Given the description of an element on the screen output the (x, y) to click on. 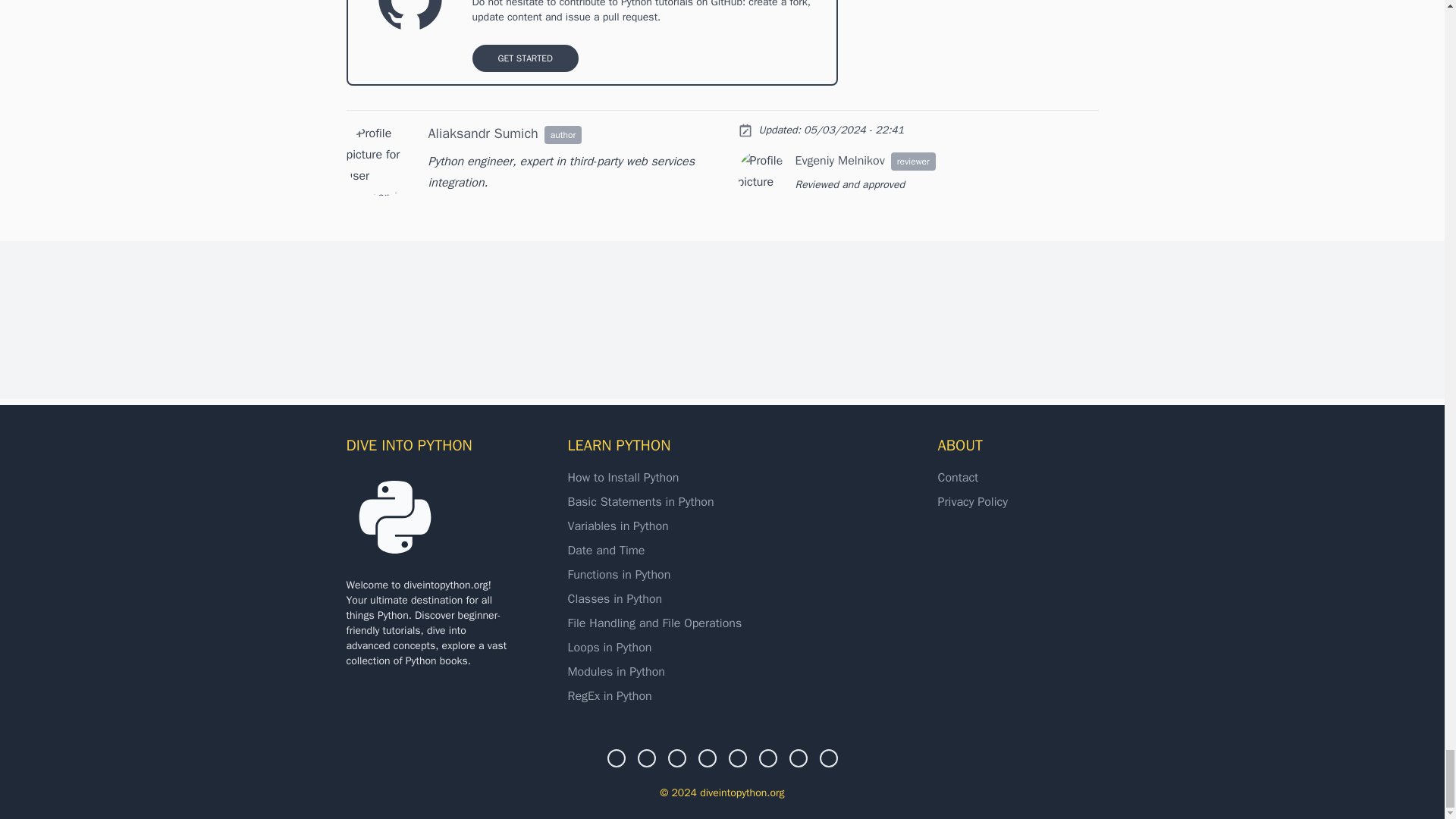
Evgeniy Melnikov (838, 160)
GET STARTED (524, 58)
Aliaksandr Sumich (482, 133)
